Given the description of an element on the screen output the (x, y) to click on. 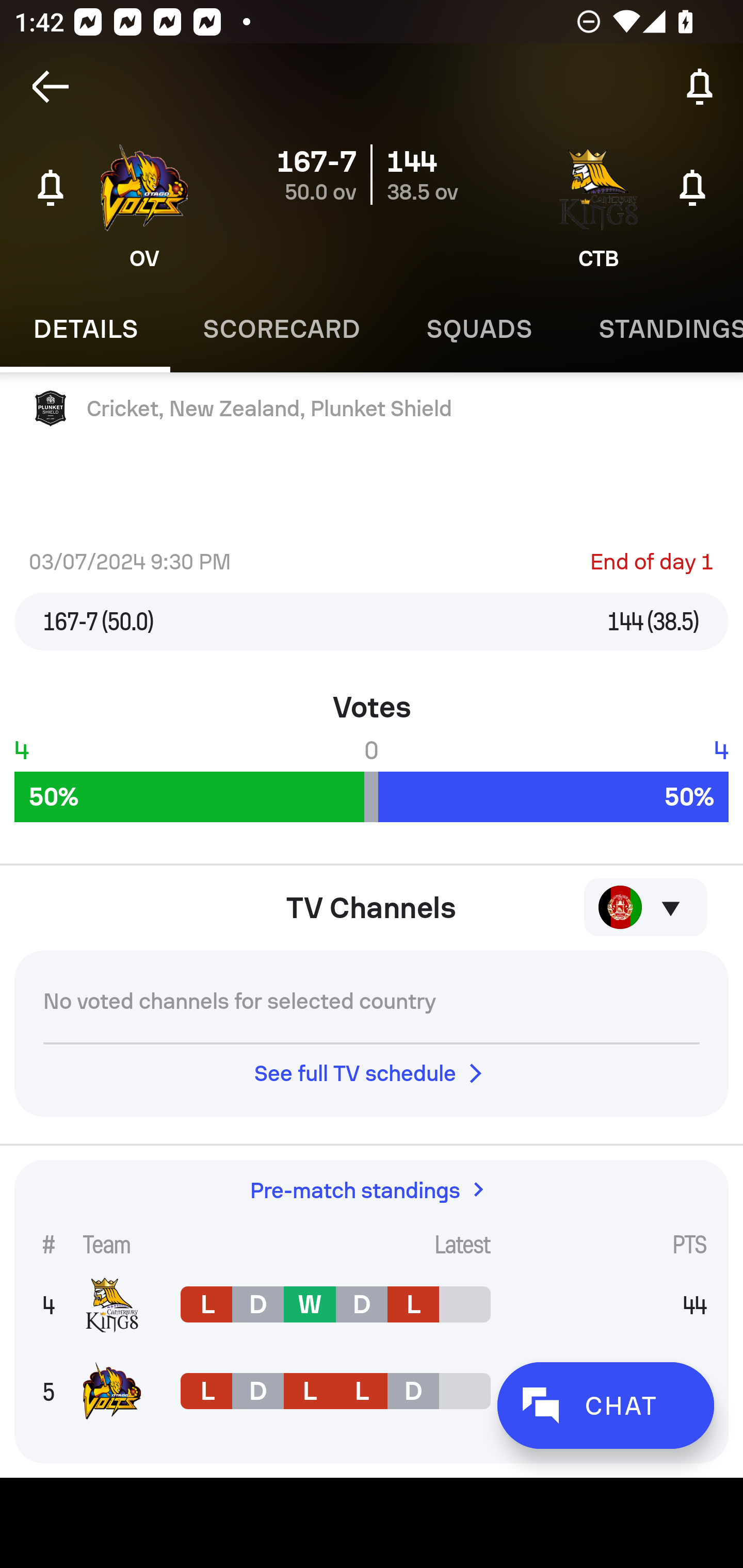
Navigate up (50, 86)
Scorecard SCORECARD (281, 329)
Squads SQUADS (479, 329)
Standings STANDINGS (654, 329)
Cricket, New Zealand, Plunket Shield (371, 409)
See full TV schedule (371, 1073)
CHAT (605, 1405)
